Given the description of an element on the screen output the (x, y) to click on. 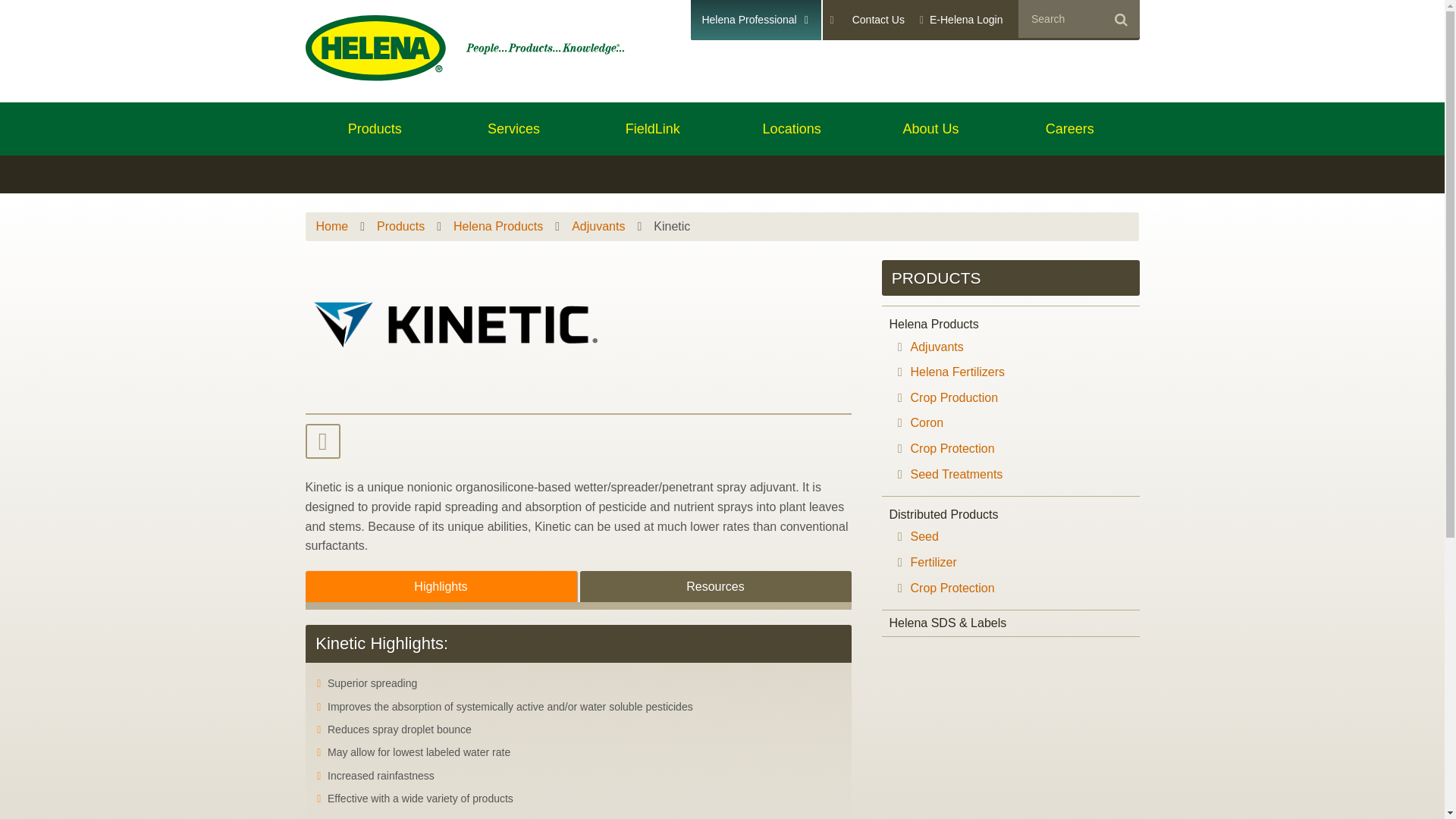
Search (1119, 18)
FieldLink (652, 129)
Products (374, 129)
Adjuvants (598, 226)
Contact Us (877, 20)
Careers (1069, 129)
Home (331, 226)
About Us (930, 129)
PRODUCTS (936, 277)
E-Helena Login (961, 20)
